Given the description of an element on the screen output the (x, y) to click on. 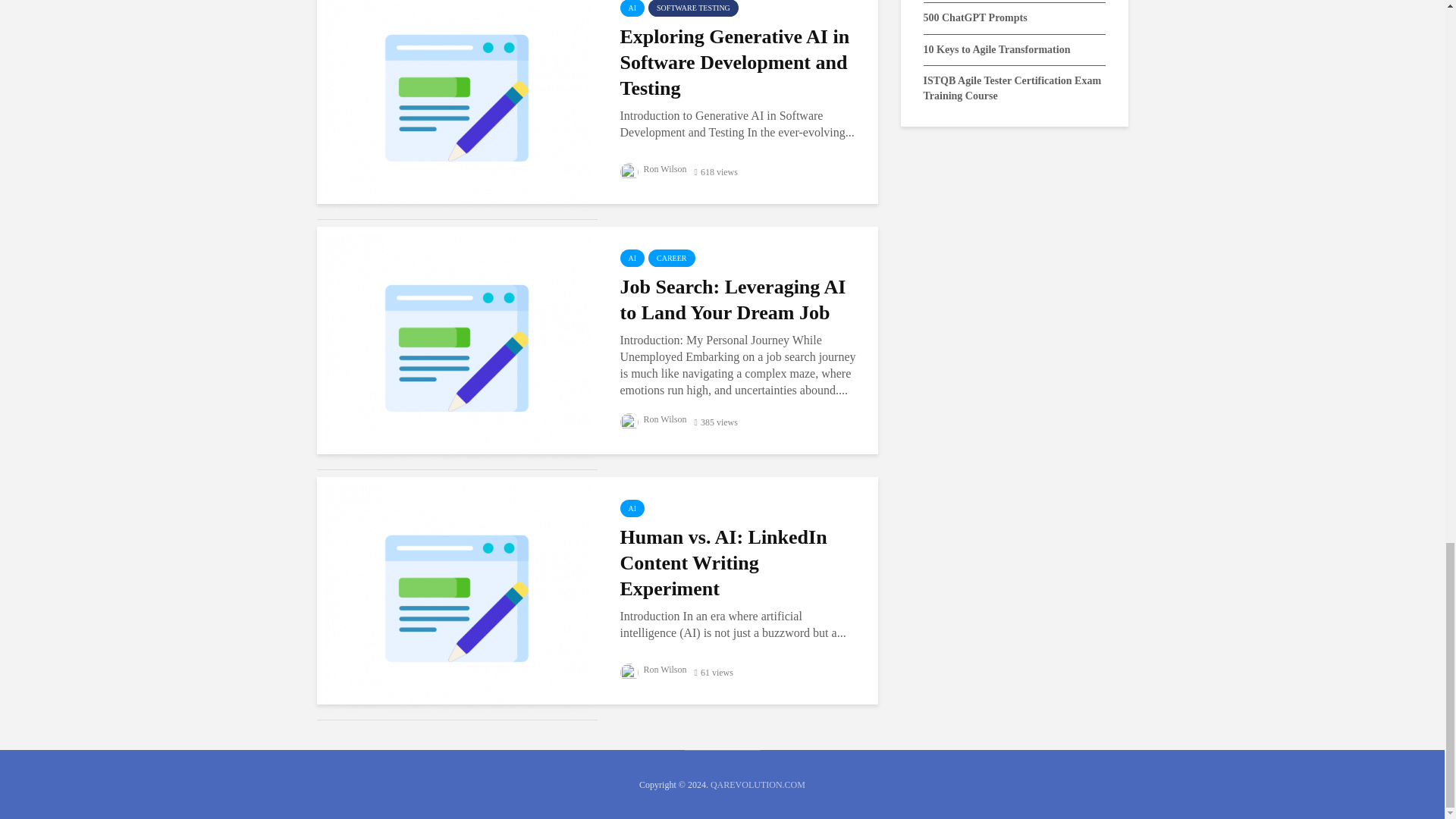
Exploring Generative AI in Software Development and Testing (456, 96)
Job Search: Leveraging AI to Land Your Dream Job (456, 346)
Human vs. AI: LinkedIn Content Writing Experiment (456, 596)
